Given the description of an element on the screen output the (x, y) to click on. 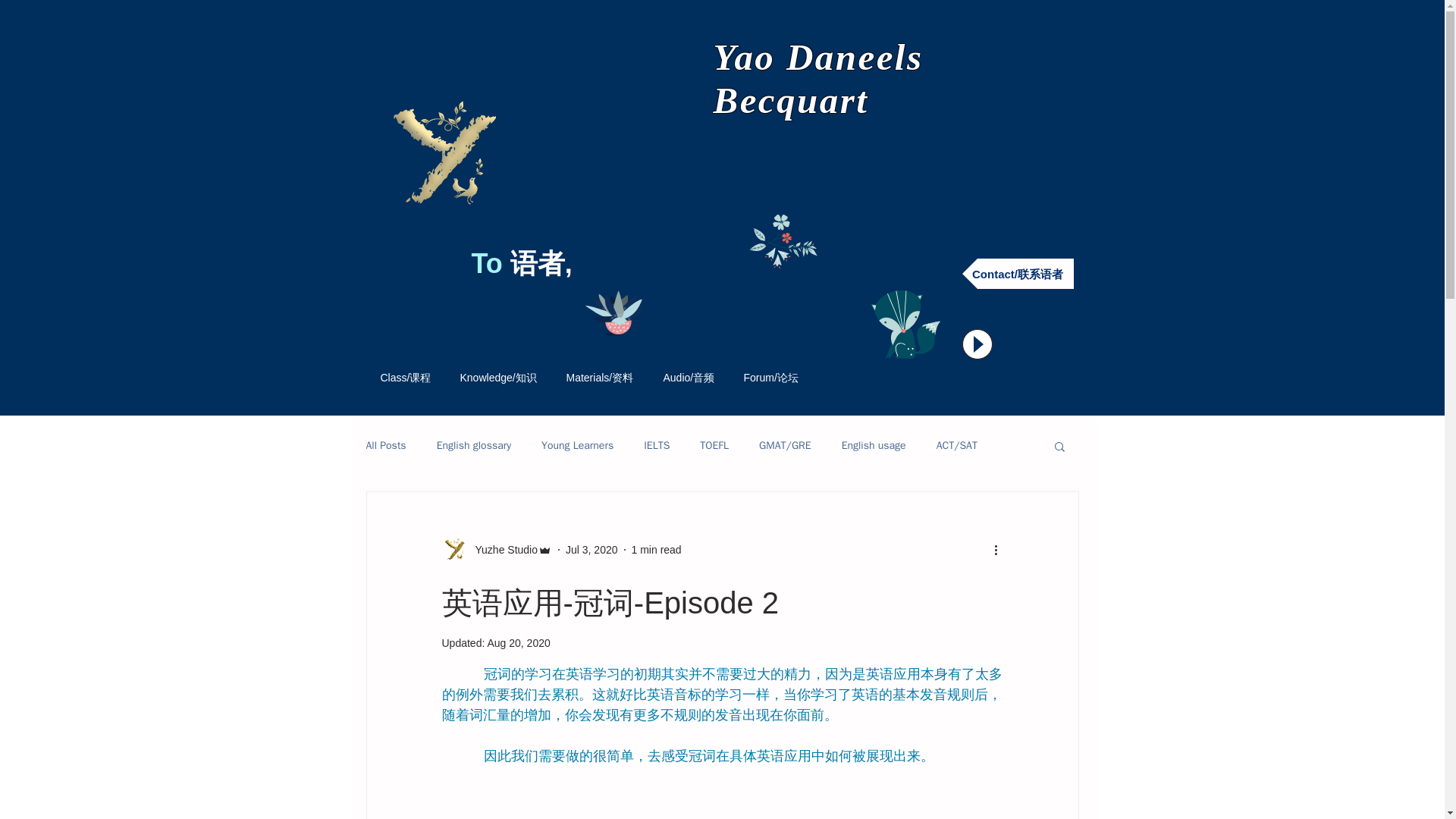
English glossary (473, 445)
English usage (873, 445)
All Posts (385, 445)
Young Learners (576, 445)
Aug 20, 2020 (518, 643)
Language enthusiast (438, 156)
TOEFL (714, 445)
IELTS (656, 445)
1 min read (656, 548)
To (491, 263)
